Given the description of an element on the screen output the (x, y) to click on. 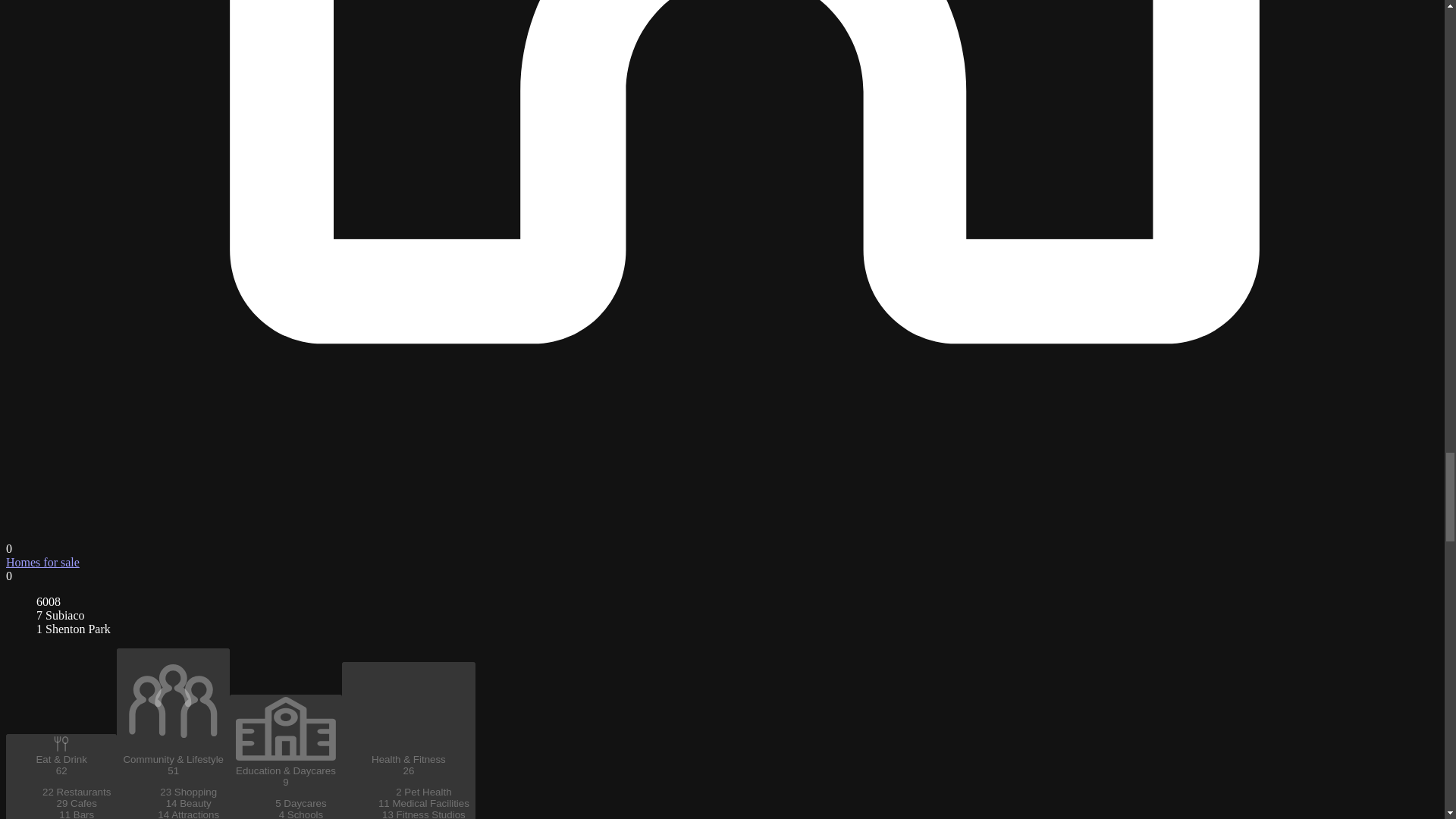
Homes for sale (42, 562)
